Given the description of an element on the screen output the (x, y) to click on. 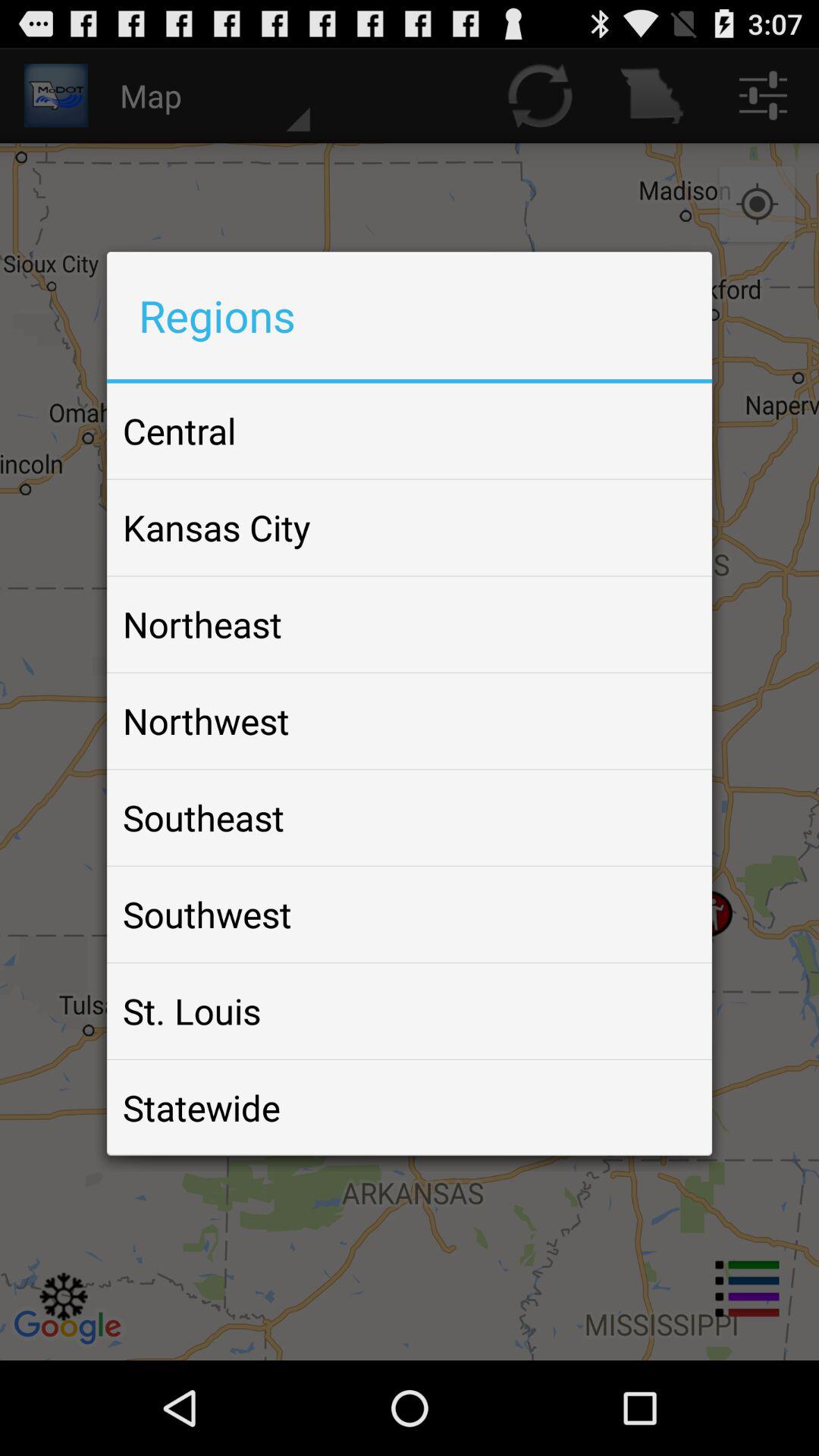
tap item below the central app (216, 527)
